Given the description of an element on the screen output the (x, y) to click on. 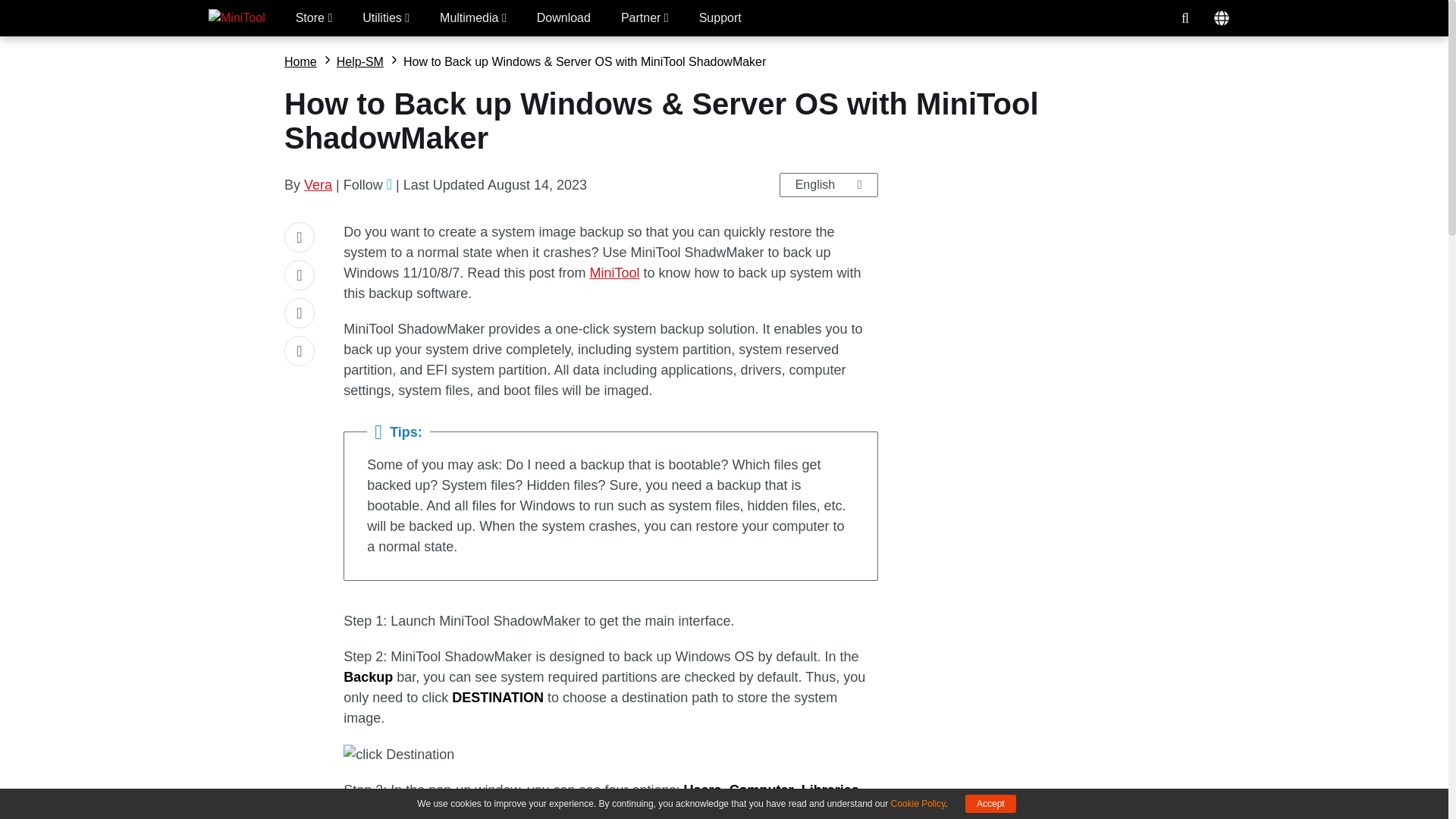
Store (314, 18)
Utilities (385, 18)
MiniTool Home (236, 17)
Twitter (389, 184)
